Given the description of an element on the screen output the (x, y) to click on. 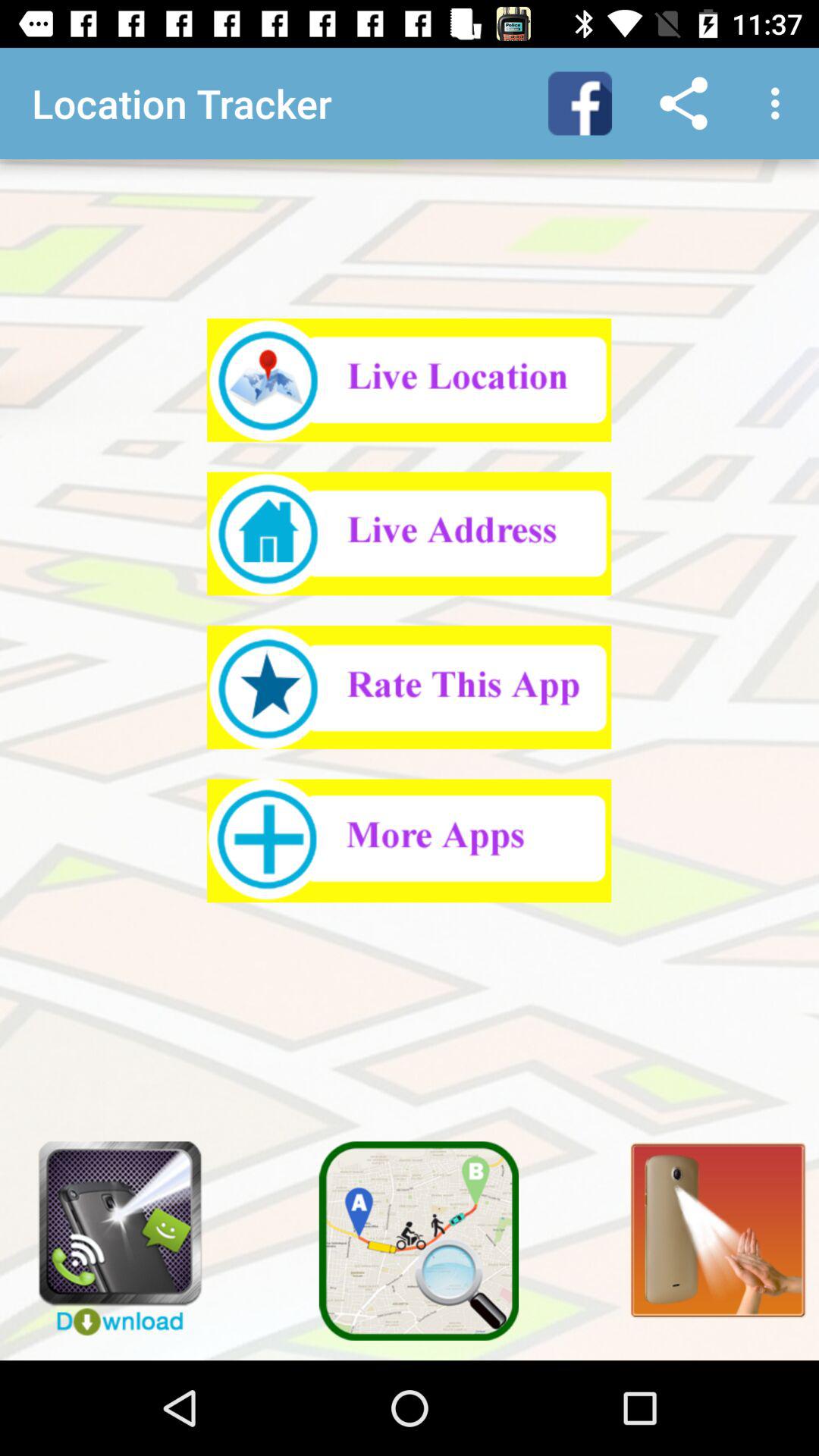
live address (409, 533)
